Given the description of an element on the screen output the (x, y) to click on. 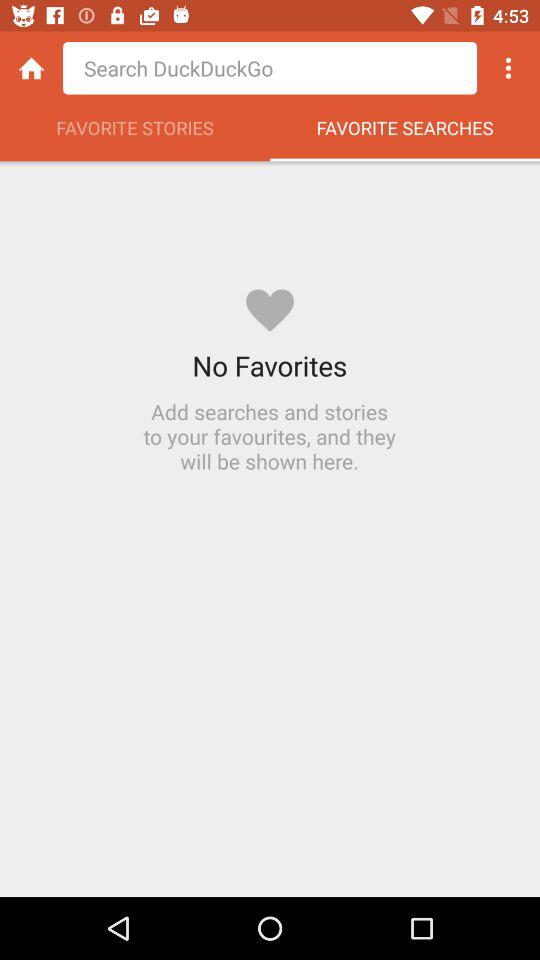
shows home icon (31, 68)
